Given the description of an element on the screen output the (x, y) to click on. 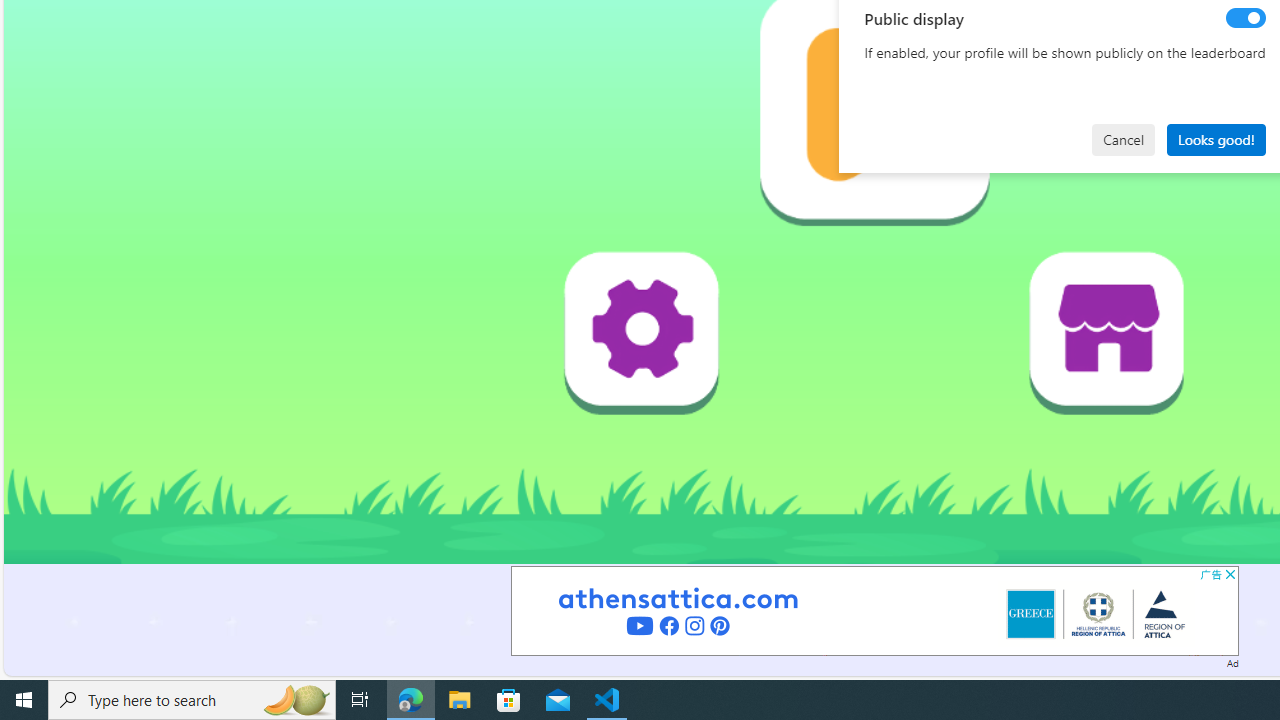
Advertisement (874, 610)
